Given the description of an element on the screen output the (x, y) to click on. 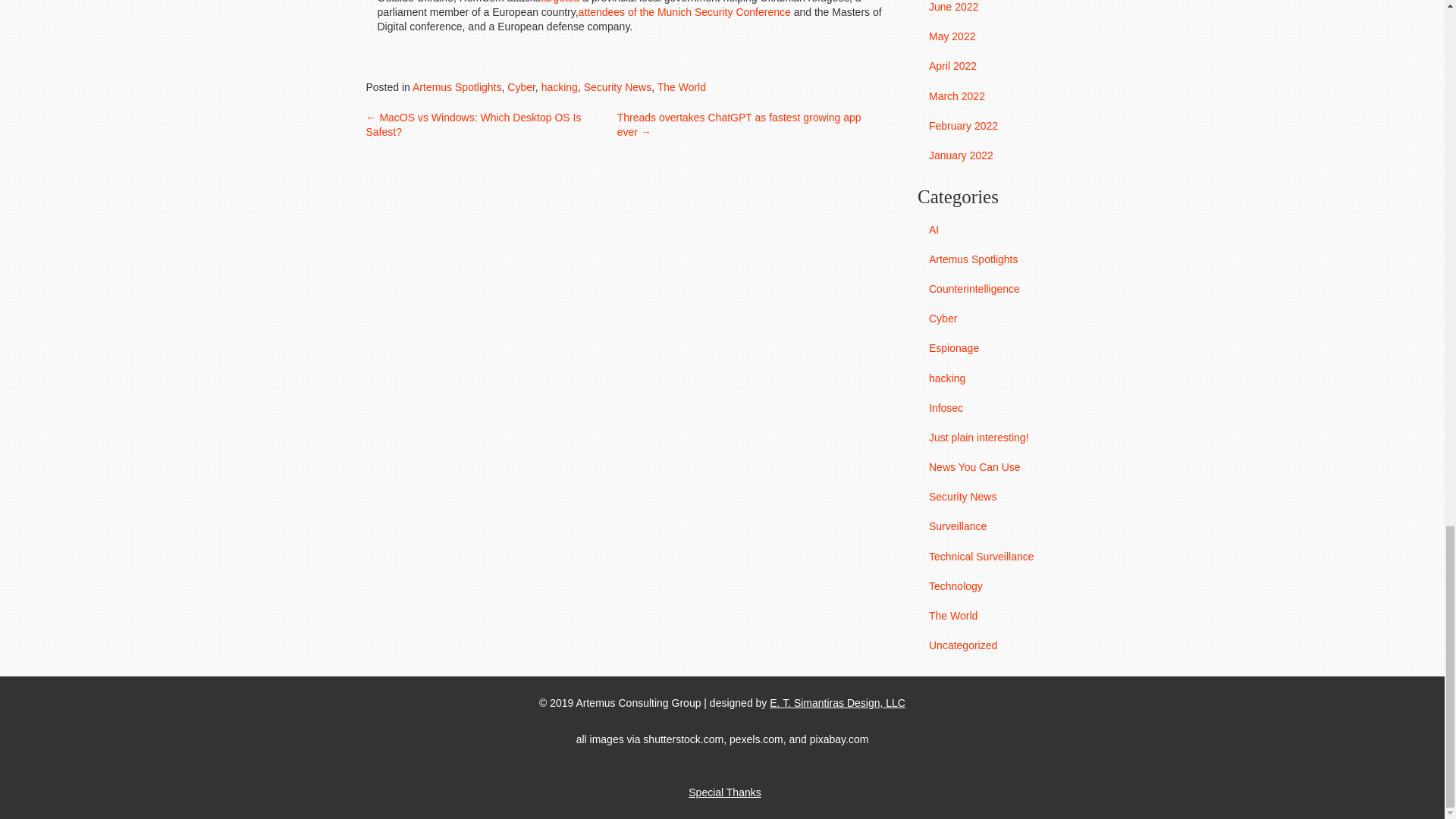
Cyber (520, 87)
Security News (616, 87)
The World (682, 87)
hacking (559, 87)
targeted (559, 2)
Artemus Spotlights (457, 87)
attendees of the Munich Security Conference (684, 11)
